Given the description of an element on the screen output the (x, y) to click on. 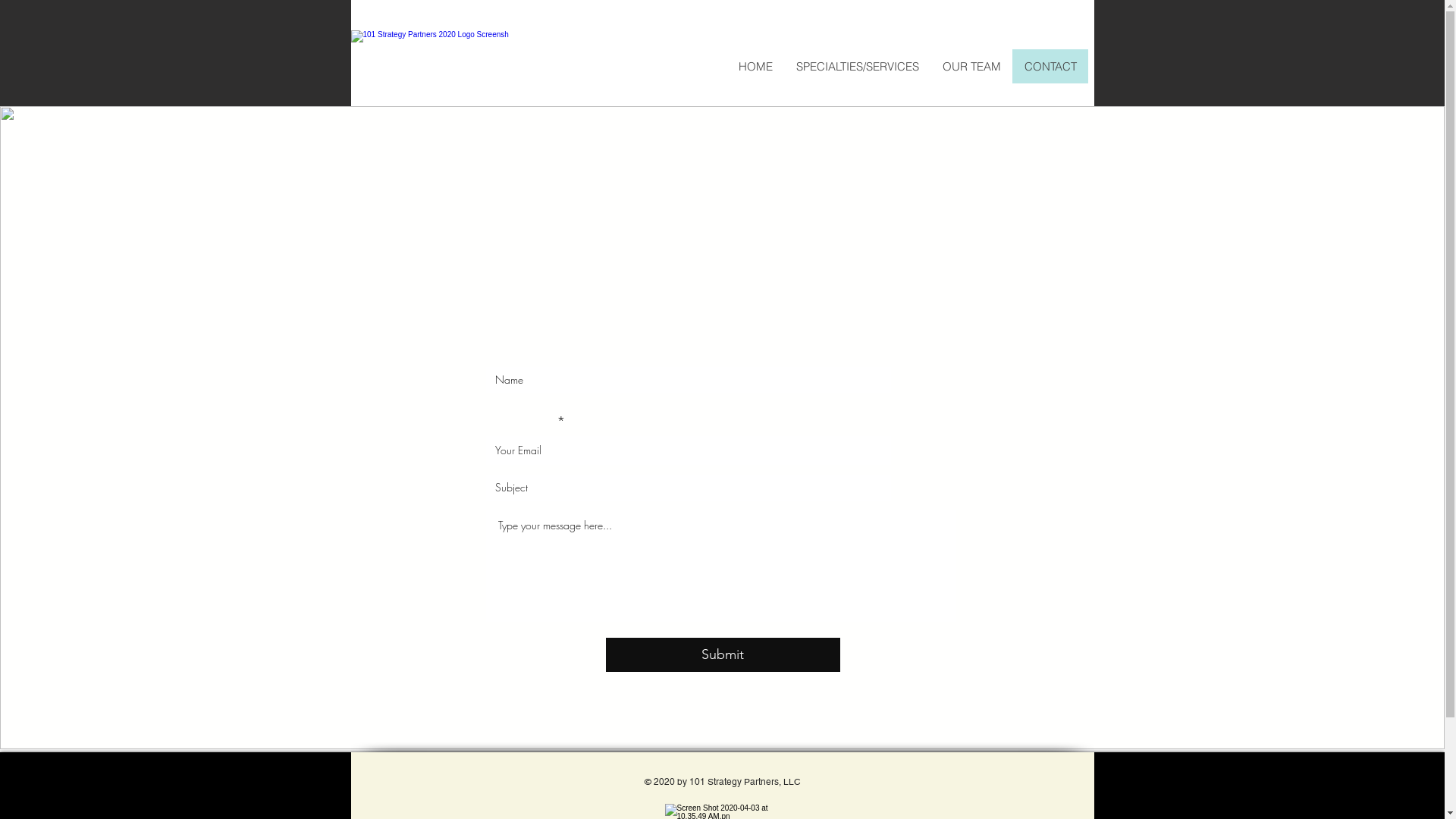
HOME Element type: text (754, 66)
SPECIALTIES/SERVICES Element type: text (857, 66)
Submit Element type: text (722, 654)
CONTACT Element type: text (1049, 66)
OUR TEAM Element type: text (970, 66)
